Given the description of an element on the screen output the (x, y) to click on. 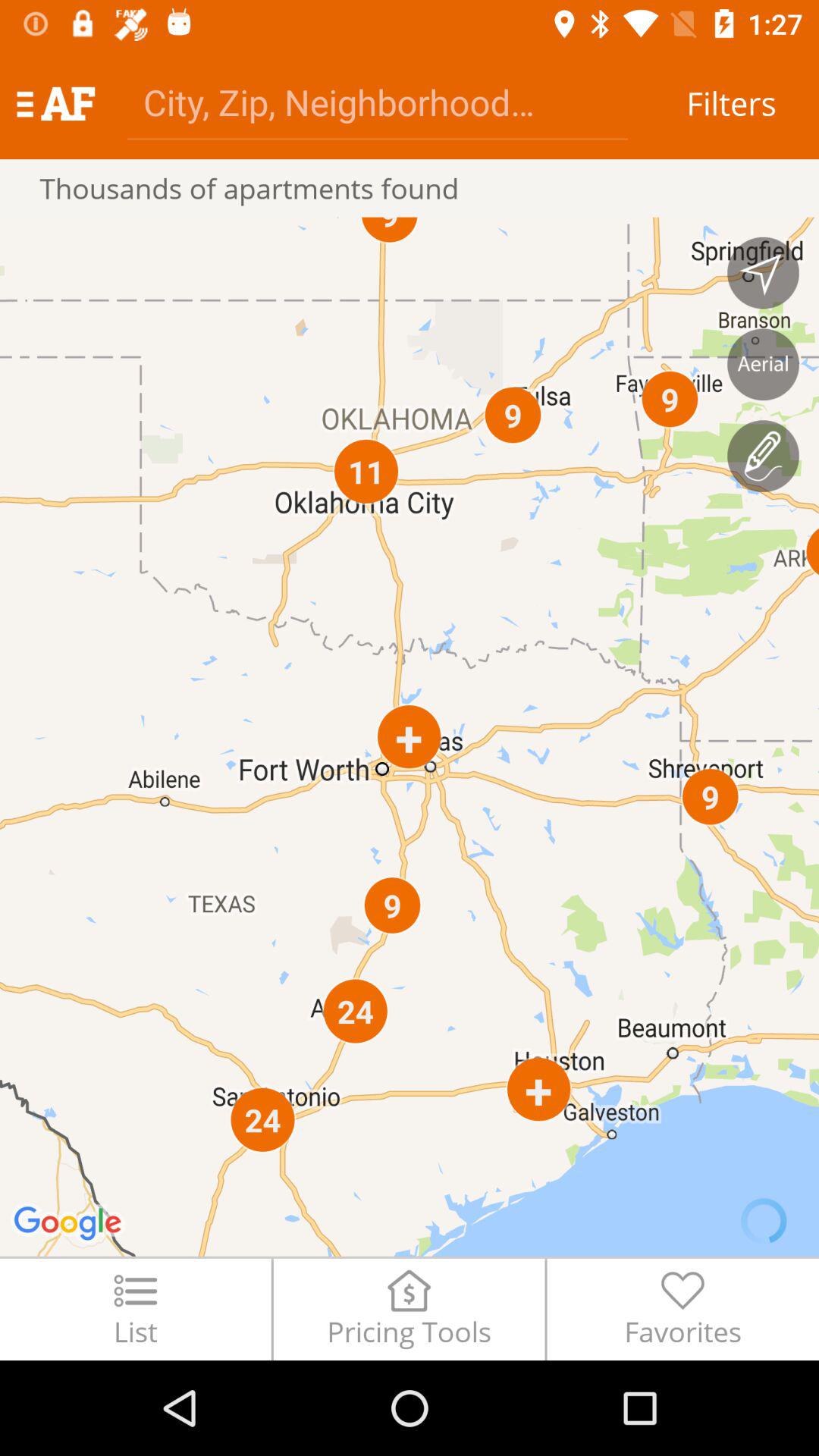
launch the item next to favorites (408, 1309)
